Given the description of an element on the screen output the (x, y) to click on. 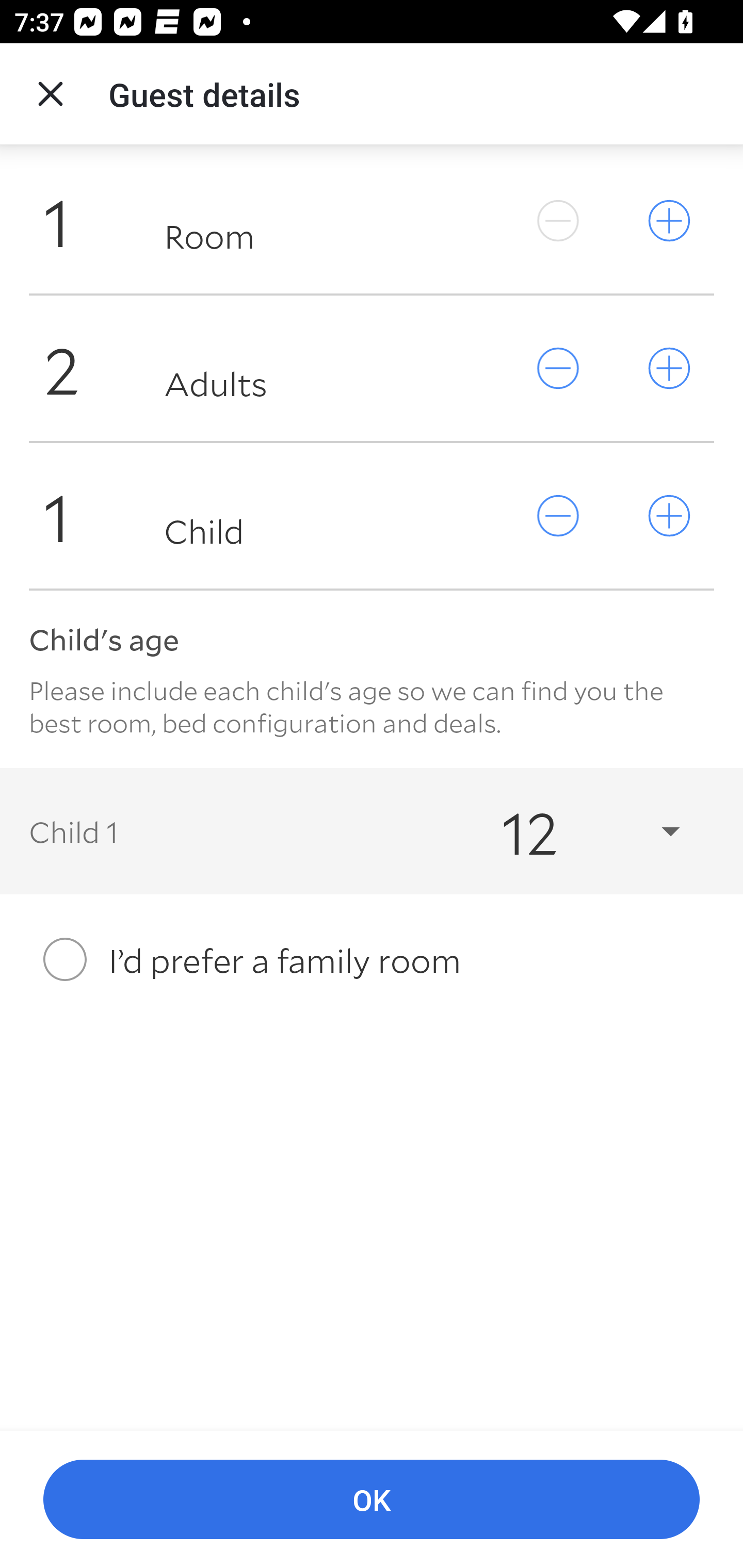
12 (573, 830)
I’d prefer a family room (371, 959)
OK (371, 1499)
